Given the description of an element on the screen output the (x, y) to click on. 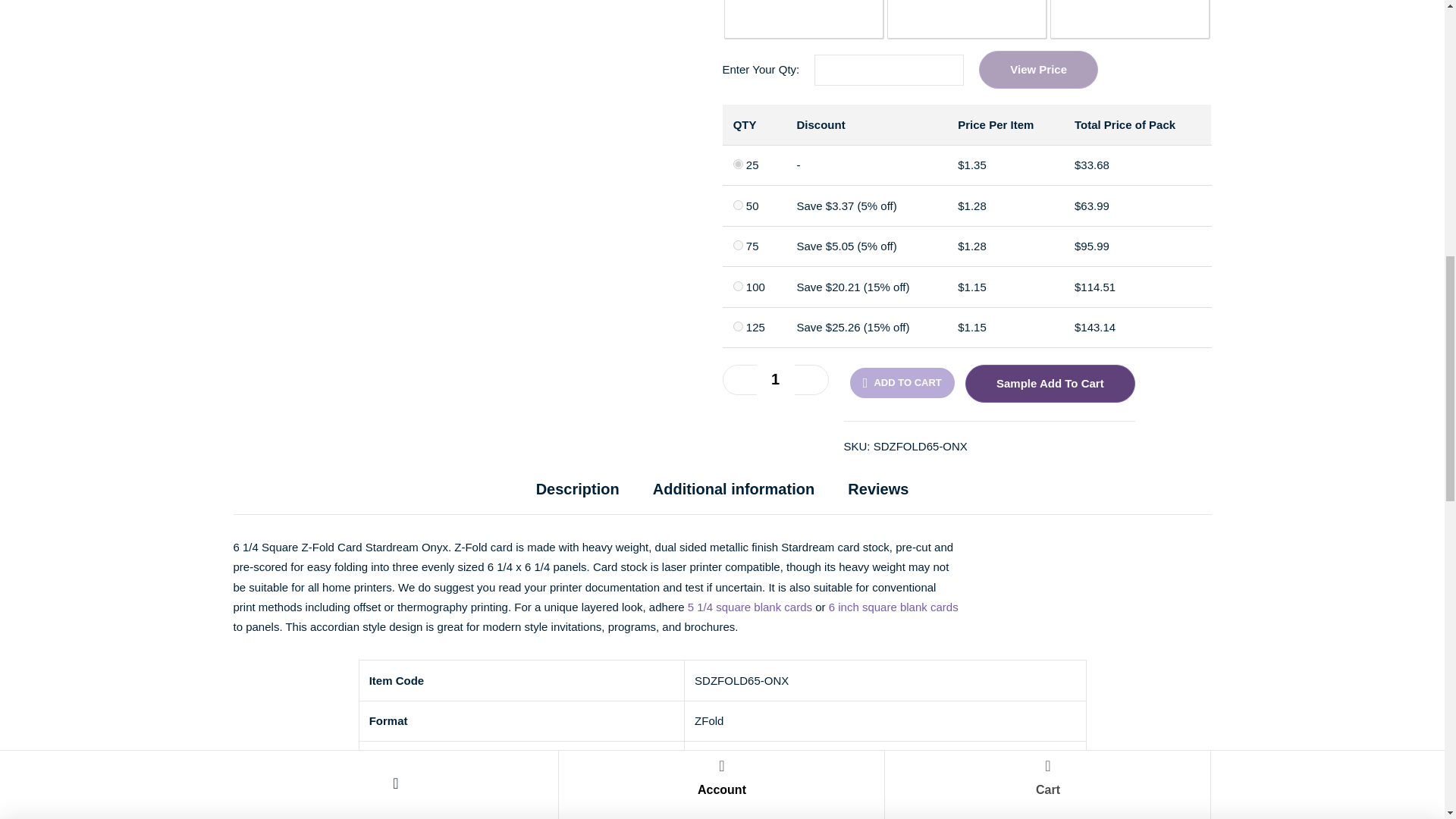
100 (737, 286)
75 (737, 245)
125 (737, 326)
50 (737, 204)
1 (775, 379)
25 (737, 163)
